Given the description of an element on the screen output the (x, y) to click on. 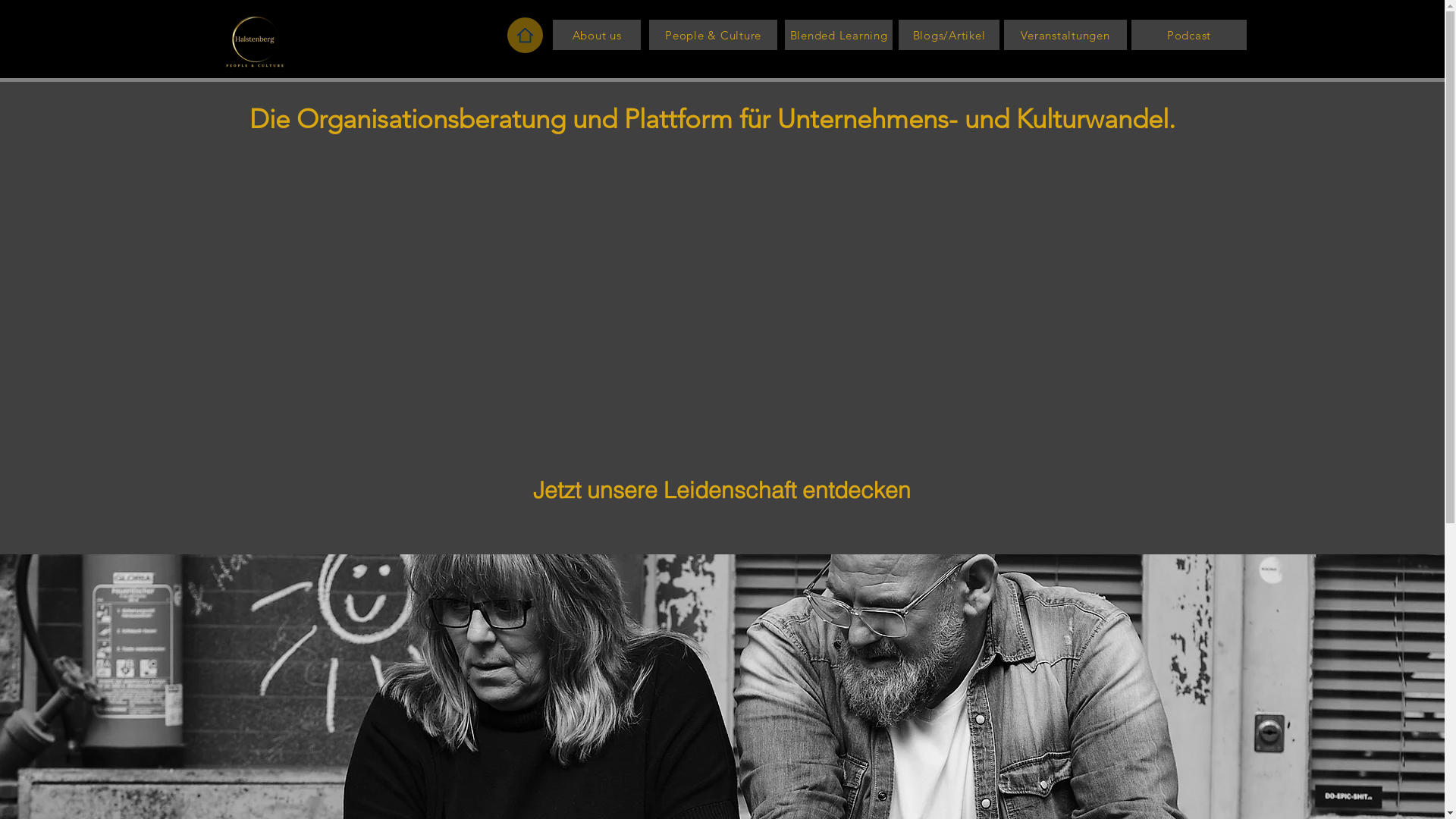
Neues Logo.png Element type: hover (254, 40)
Blogs/Artikel Element type: text (948, 34)
Veranstaltungen Element type: text (1065, 34)
People & Culture Element type: text (713, 34)
Blended Learning Element type: text (838, 34)
About us Element type: text (596, 34)
Podcast Element type: text (1188, 34)
Jetzt unsere Leidenschaft entdecken Element type: text (721, 489)
